Given the description of an element on the screen output the (x, y) to click on. 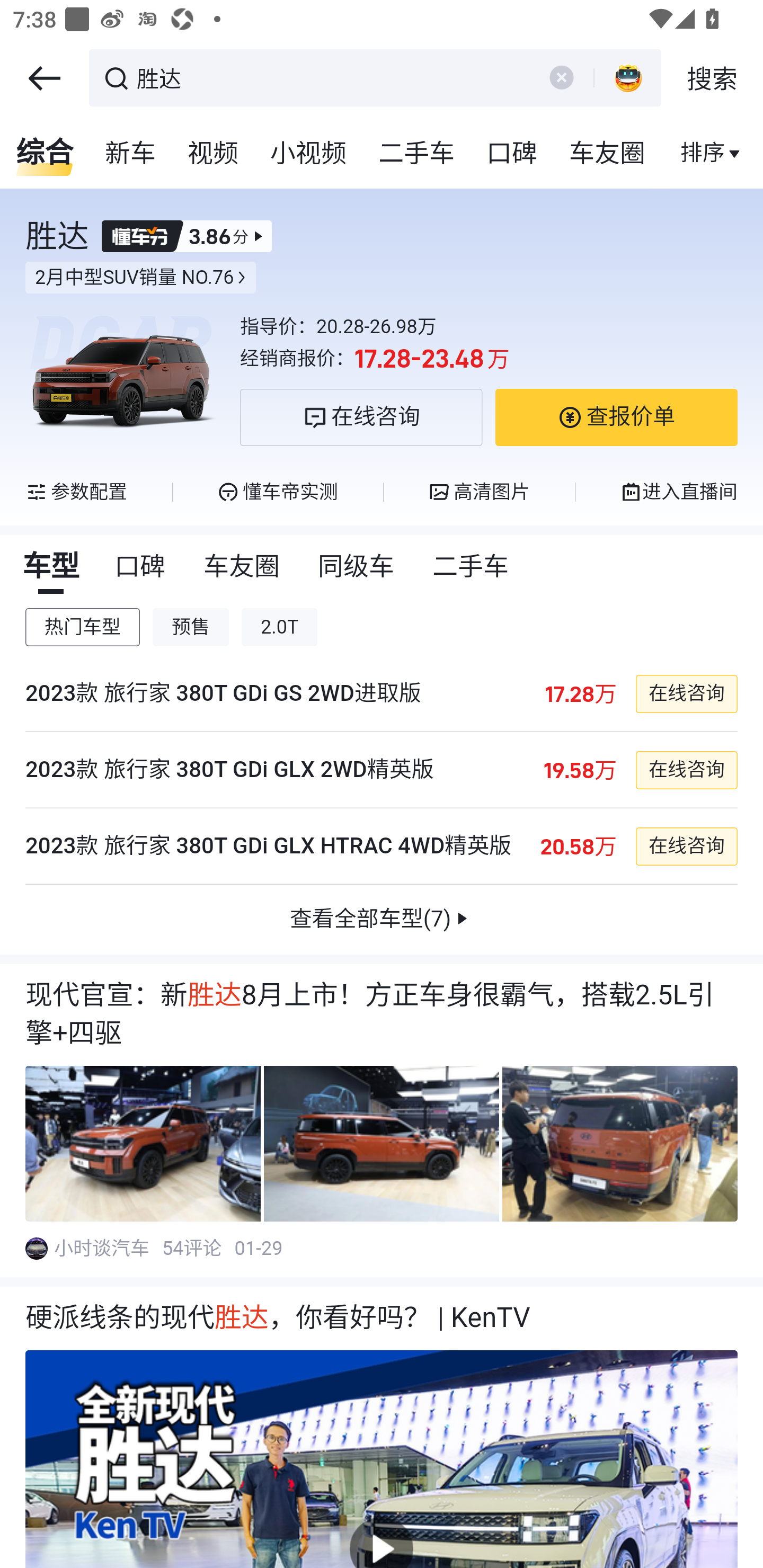
胜达 (331, 76)
 (560, 77)
 (44, 78)
搜索 (711, 78)
综合 (44, 153)
新车 (131, 153)
视频 (213, 153)
小视频 (308, 153)
二手车 (417, 153)
口碑 (512, 153)
车友圈 (608, 153)
直播 (703, 153)
3.86 分 (186, 236)
2月中型SUV销量 NO.76 (141, 277)
经销商报价： 17.28-23.48 万 (488, 358)
在线咨询 (361, 416)
查报价单 (615, 416)
参数配置 (76, 492)
懂车帝实测 (276, 492)
高清图片 (479, 492)
进入直播间 (677, 492)
车型 (51, 566)
口碑 (140, 566)
车友圈 (242, 566)
同级车 (357, 566)
二手车 (471, 566)
热门车型 (83, 627)
预售 (191, 627)
2.0T (279, 627)
2023款 旅行家 380T GDi GS 2WD进取版 17.28万 在线咨询 (381, 693)
17.28万 (579, 693)
在线咨询 (685, 693)
2023款 旅行家 380T GDi GLX 2WD精英版 19.58万 在线咨询 (381, 770)
19.58万 (578, 769)
在线咨询 (685, 769)
2023款 旅行家 380T GDi GLX HTRAC 4WD精英版 20.58万 在线咨询 (381, 846)
20.58万 (577, 846)
在线咨询 (685, 846)
查看全部车型(7) (381, 919)
现代官宣：新胜达8月上市！方正车身很霸气，搭载2.5L引擎+四驱 (381, 1014)
小时谈汽车 (102, 1248)
bb7ea0a30cb791116d6924662e0bf4a1~300x300 (36, 1248)
硬派线条的现代胜达，你看好吗？ | KenTV (381, 1318)
